Given the description of an element on the screen output the (x, y) to click on. 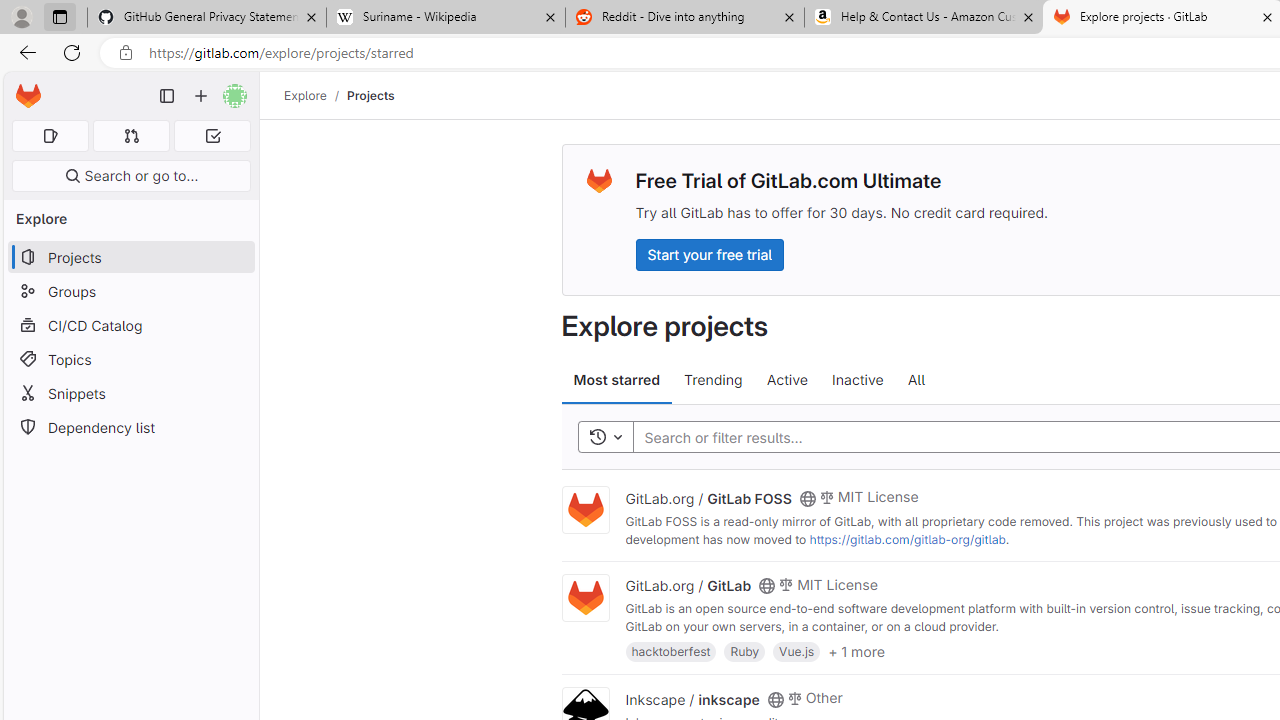
Ruby (744, 650)
Assigned issues 0 (50, 136)
Class: project (585, 597)
Primary navigation sidebar (167, 96)
